Given the description of an element on the screen output the (x, y) to click on. 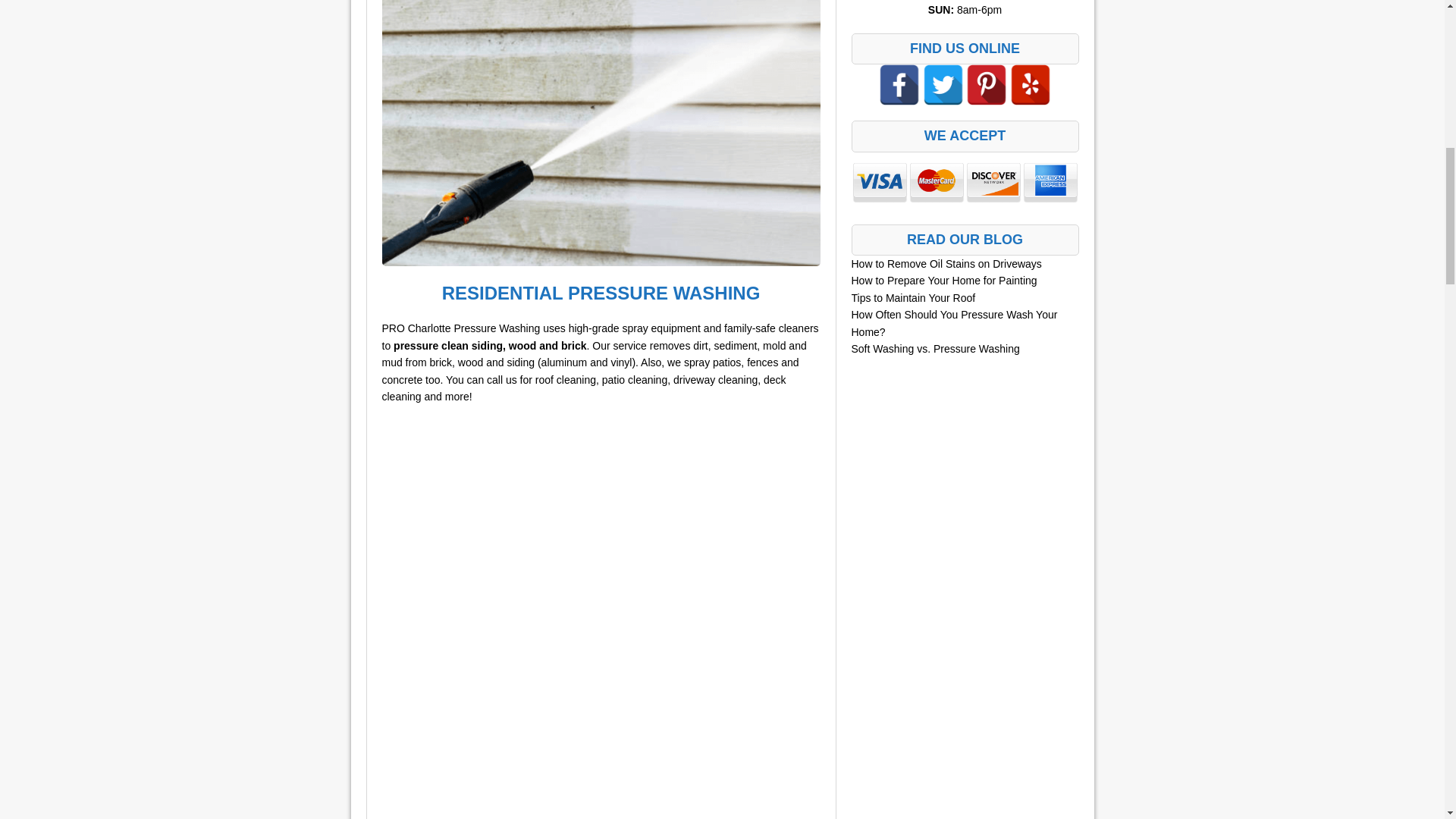
Yelp (1030, 84)
Pinterest (986, 84)
Twitter (943, 84)
Facebook (899, 84)
